Given the description of an element on the screen output the (x, y) to click on. 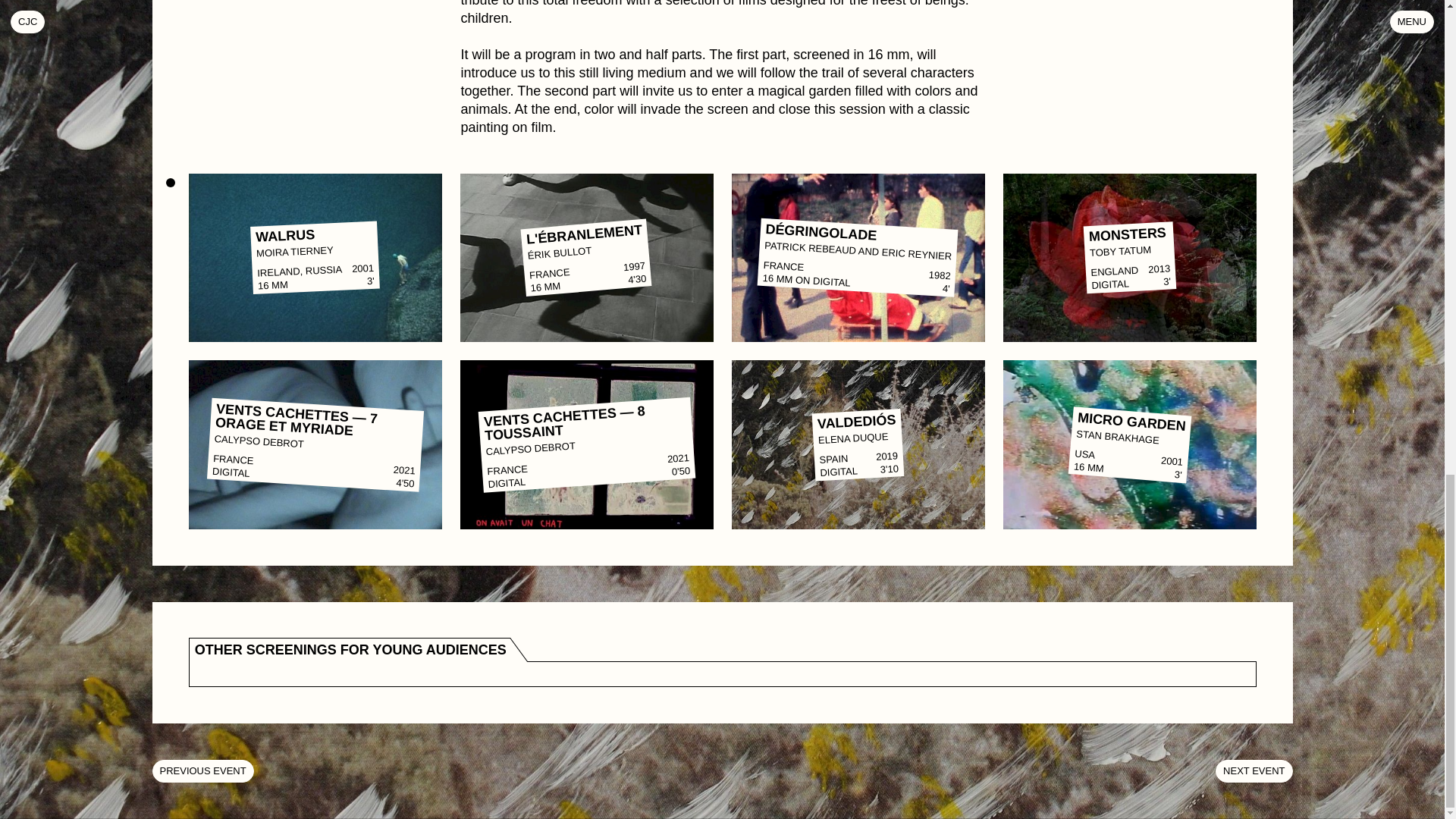
PREVIOUS EVENT (202, 771)
NEXT EVENT (1253, 771)
